Given the description of an element on the screen output the (x, y) to click on. 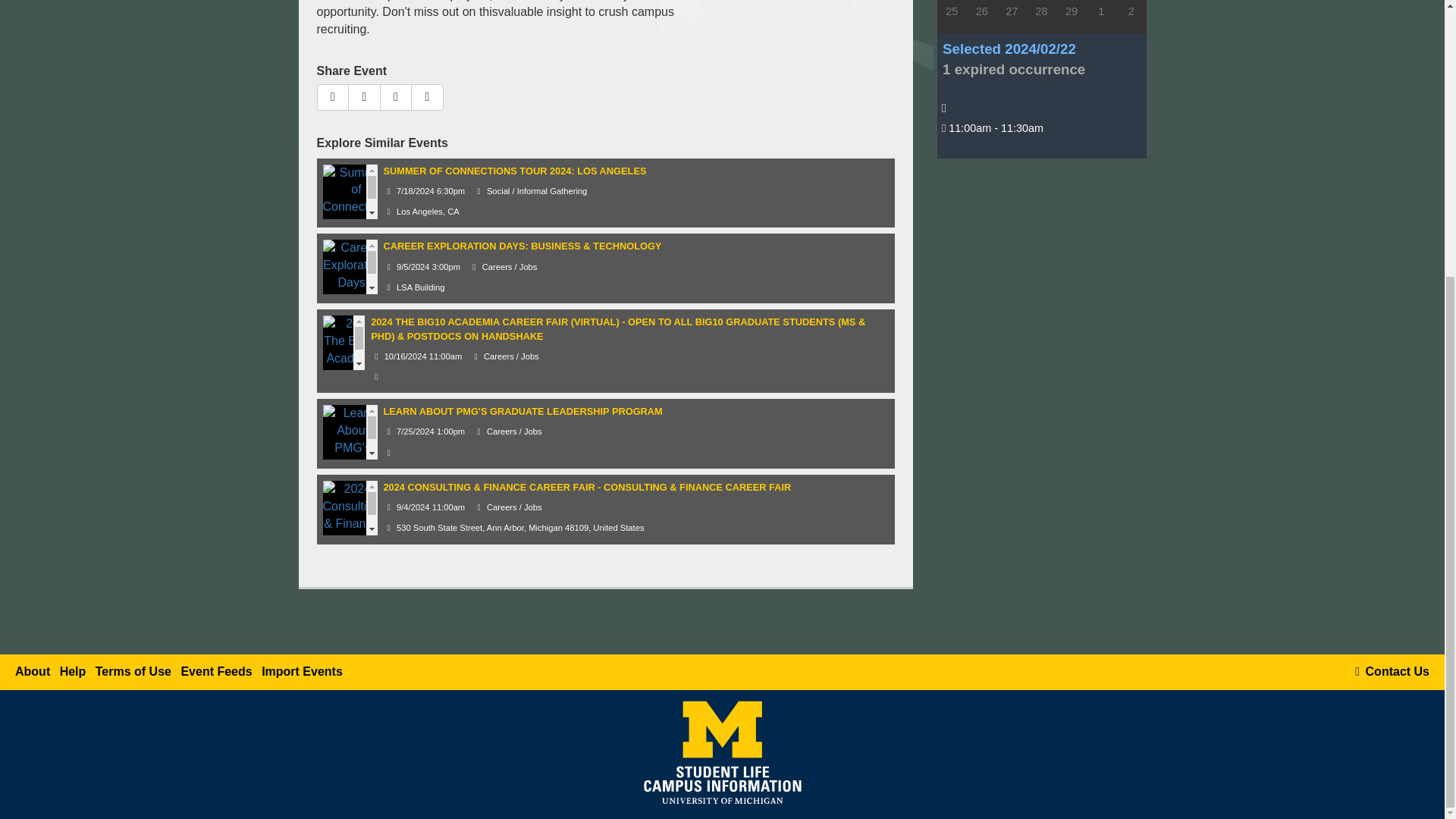
LSA Building (414, 286)
Share on Linkedin (427, 97)
Share on Tumblr (396, 97)
SUMMER OF CONNECTIONS TOUR 2024: LOS ANGELES (515, 170)
E-mail this event (333, 97)
Los Angeles, CA (422, 211)
Learn About PMG's Graduate Leadership Program (352, 455)
Share on Facebook (363, 97)
LEARN ABOUT PMG'S GRADUATE LEADERSHIP PROGRAM (523, 410)
Summer of Connections Tour 2024: Los Angeles (356, 205)
